Given the description of an element on the screen output the (x, y) to click on. 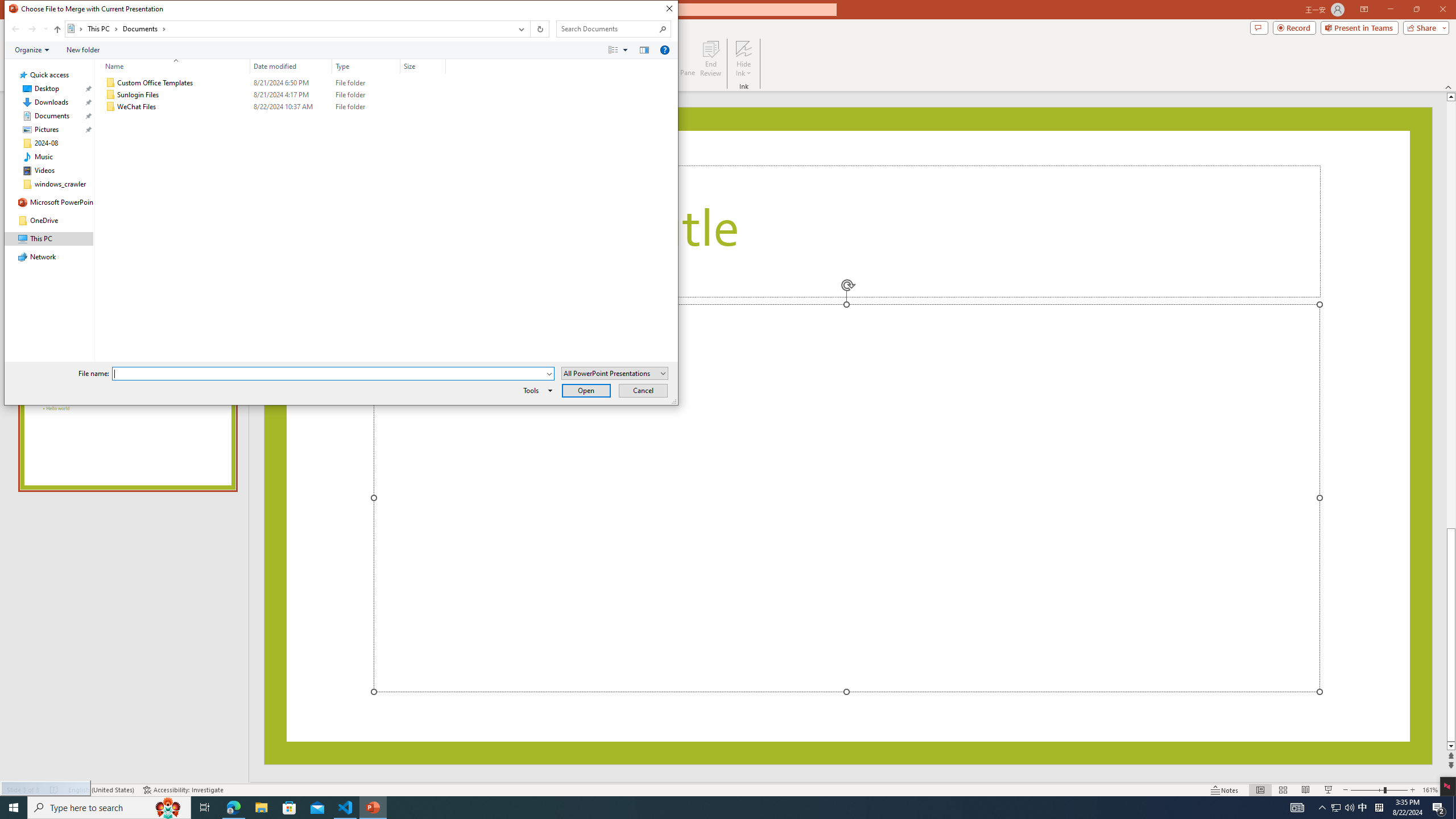
Forward (Alt + Right Arrow) (31, 28)
Documents (144, 28)
&Help (664, 49)
Organize (31, 49)
Microsoft Store (1362, 807)
Refresh "Documents" (F5) (289, 807)
Size (538, 28)
Recent locations (422, 106)
Type here to search (44, 28)
Size (108, 807)
Name (422, 65)
Visual Studio Code - 1 running window (173, 65)
